Given the description of an element on the screen output the (x, y) to click on. 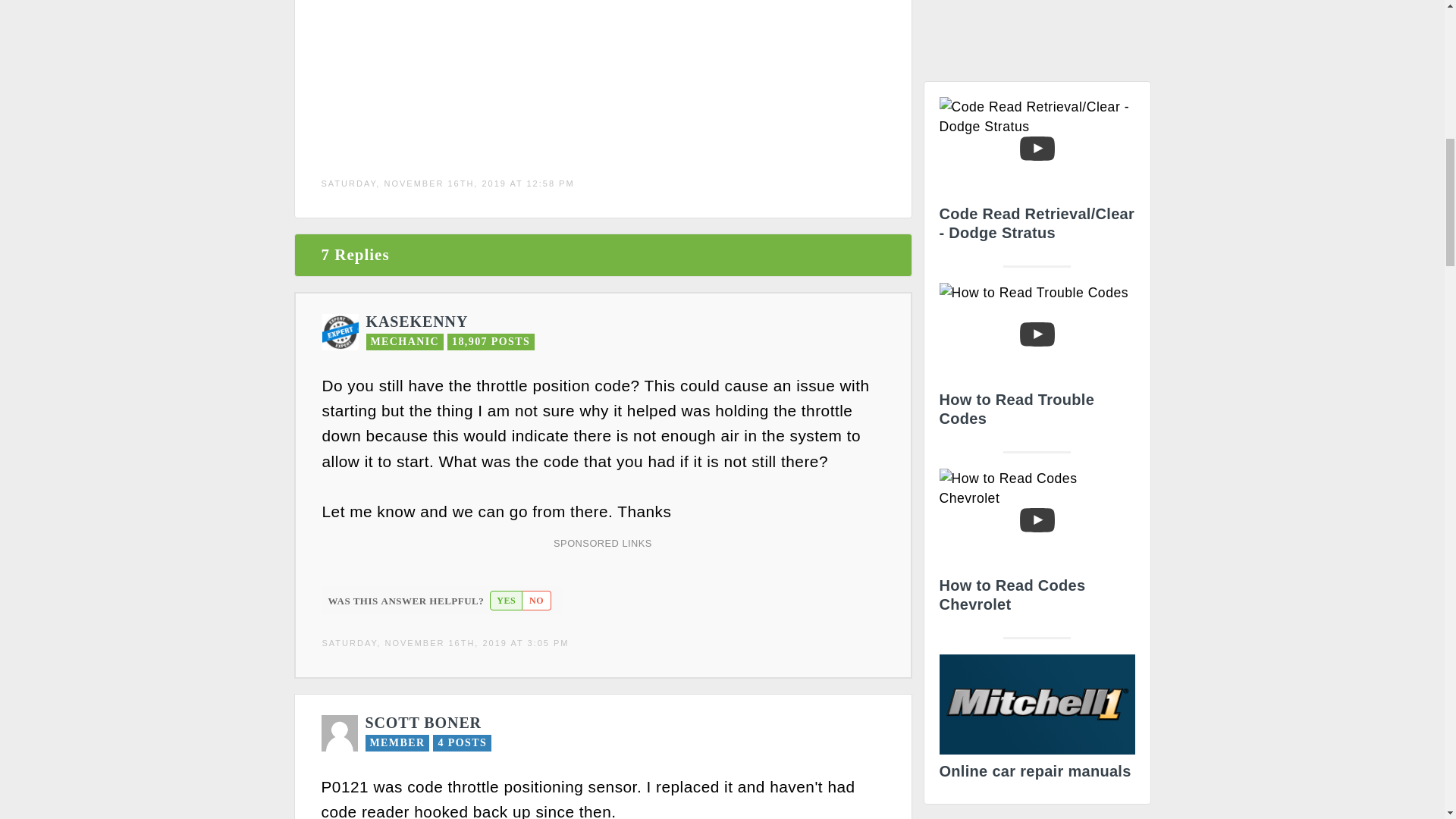
Advertisement (600, 73)
Car Manual (1036, 721)
Advertisement (1037, 34)
